Given the description of an element on the screen output the (x, y) to click on. 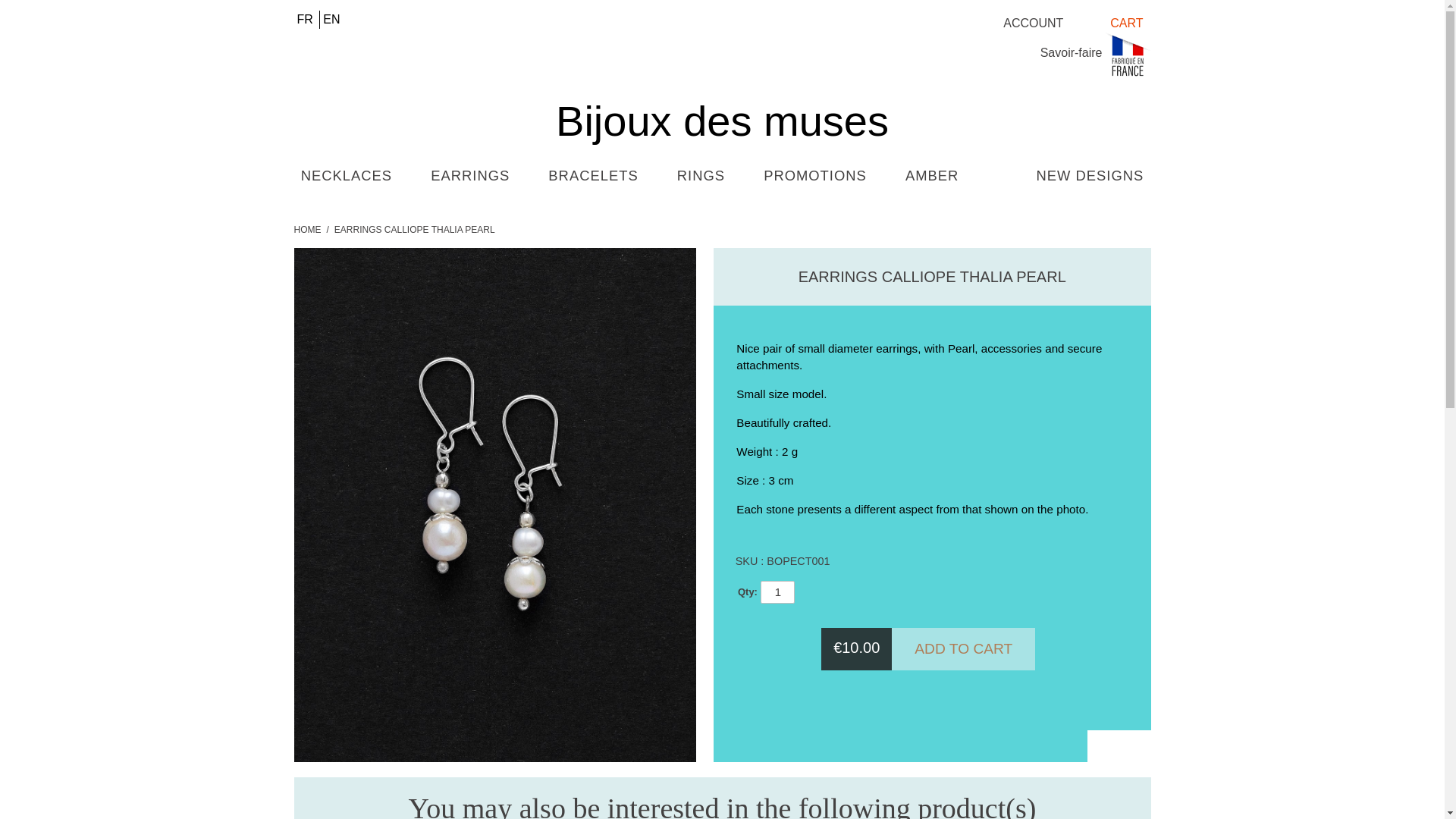
ADD TO CART (963, 649)
NEW DESIGNS (1089, 175)
Share on Facebook (1134, 745)
Bijoux des muses (722, 98)
NECKLACES (346, 175)
1 (777, 591)
ACCOUNT (1032, 23)
Savoir-faire (1071, 51)
BRACELETS (593, 175)
HOME (307, 229)
